Given the description of an element on the screen output the (x, y) to click on. 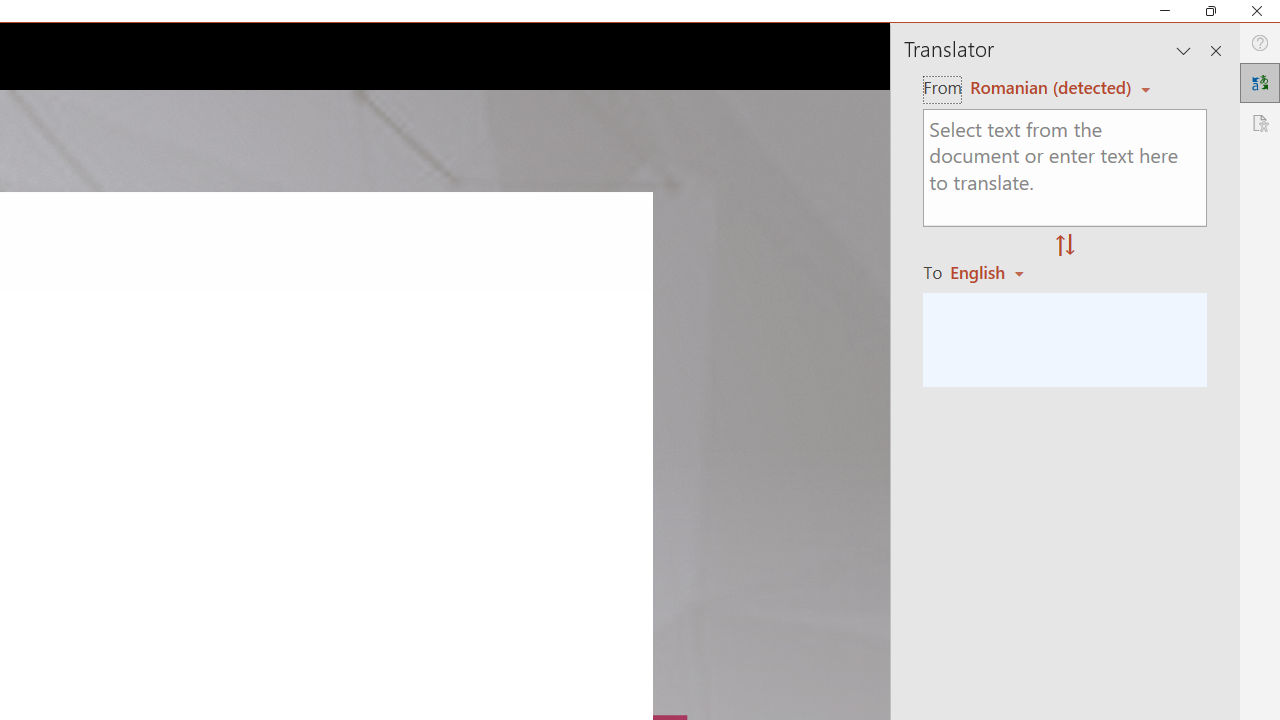
Swap "from" and "to" languages. (1065, 245)
Romanian (994, 272)
Czech (detected) (1047, 87)
